Given the description of an element on the screen output the (x, y) to click on. 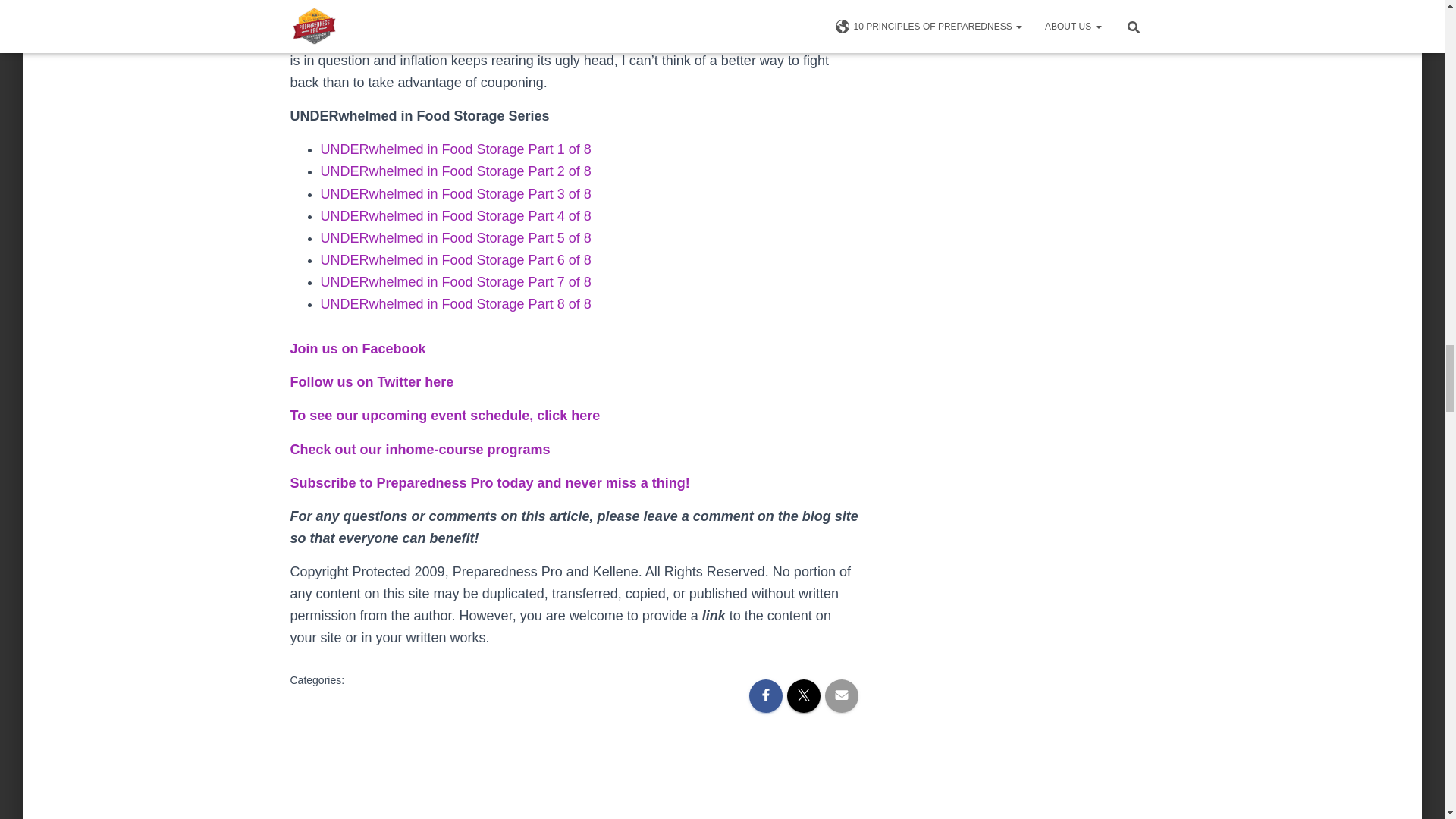
To see our upcoming event schedule, click here (444, 415)
UNDERwhelmed in Food Storage Part 7 of 8 (455, 281)
UNDERwhelmed in Food Storage Part 5 of 8 (455, 237)
UNDERwhelmed in Food Storage Part 6 of 8 (455, 259)
Check out our inhome-course programs (419, 449)
UNDERwhelmed in Food Storage Part 2 of 8 (455, 171)
UNDERwhelmed in Food Storage Part 1 of 8 (455, 149)
UNDERwhelmed in Food Storage Part 3 of 8 (455, 193)
Follow us on Twitter here (370, 381)
UNDERwhelmed in Food Storage Part 4 of 8 (455, 215)
UNDERwhelmed in Food Storage Part 8 of 8 (455, 304)
Subscribe to Preparedness Pro today and never miss a thing! (488, 482)
Join us on Facebook (357, 348)
